Given the description of an element on the screen output the (x, y) to click on. 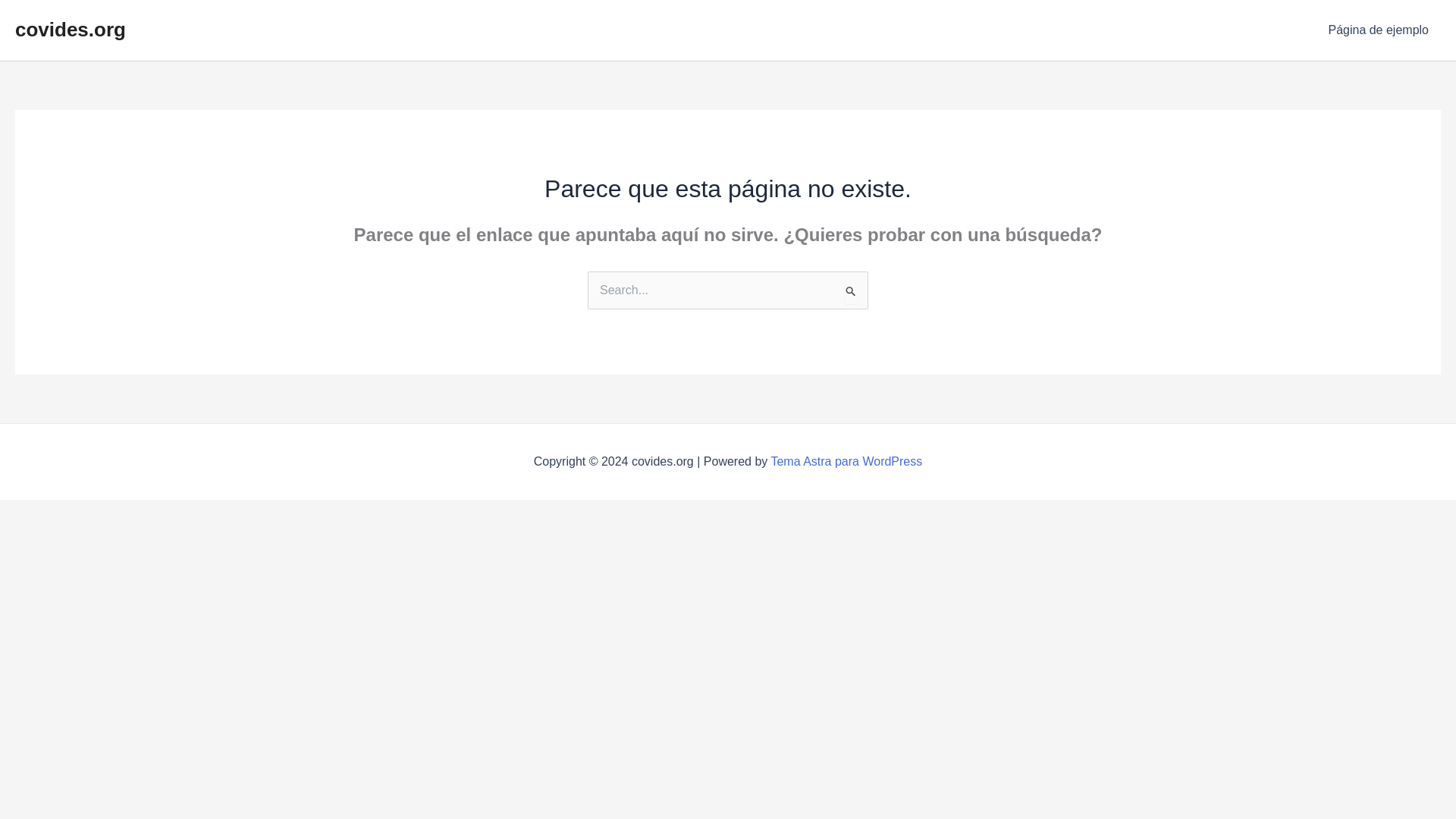
Buscar (850, 292)
Buscar (850, 292)
Tema Astra para WordPress (845, 461)
covides.org (69, 29)
Buscar (850, 292)
